Given the description of an element on the screen output the (x, y) to click on. 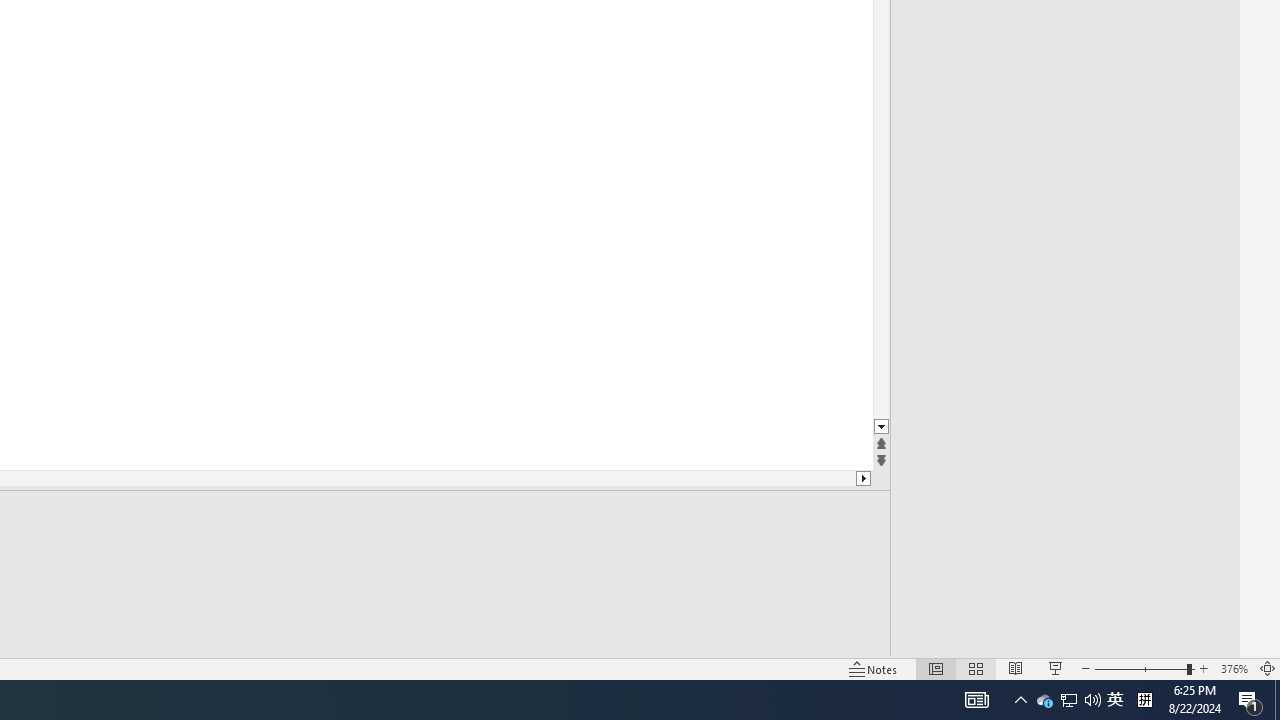
Zoom 376% (1234, 668)
